Given the description of an element on the screen output the (x, y) to click on. 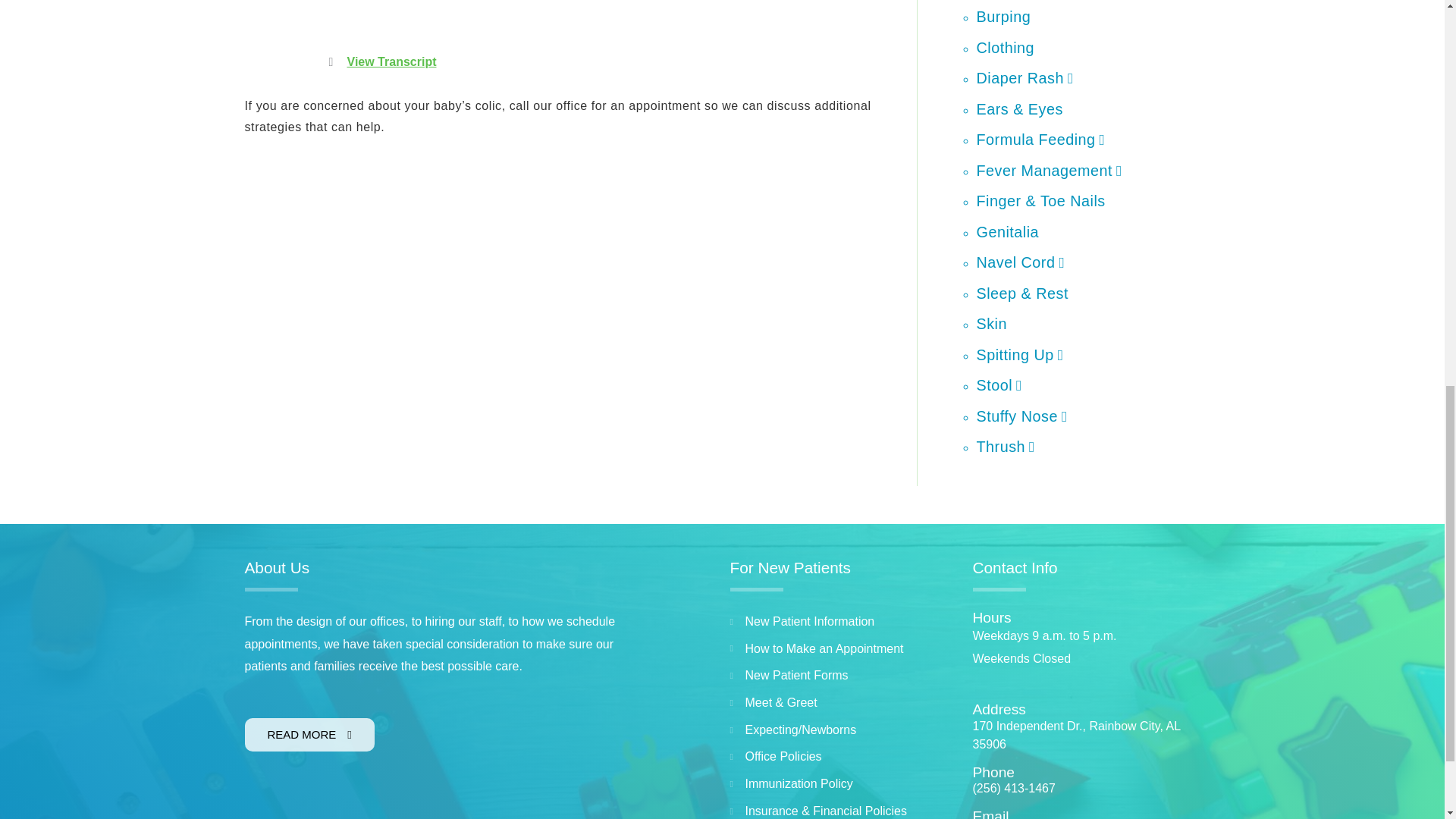
Skin (991, 323)
Clothing (1005, 47)
Diaper Rash (1025, 77)
Stool (999, 384)
Spitting Up (1020, 354)
Genitalia (1007, 231)
Fever Management (1049, 170)
Navel Cord (1020, 262)
Burping (1003, 16)
Formula Feeding (1040, 139)
